Given the description of an element on the screen output the (x, y) to click on. 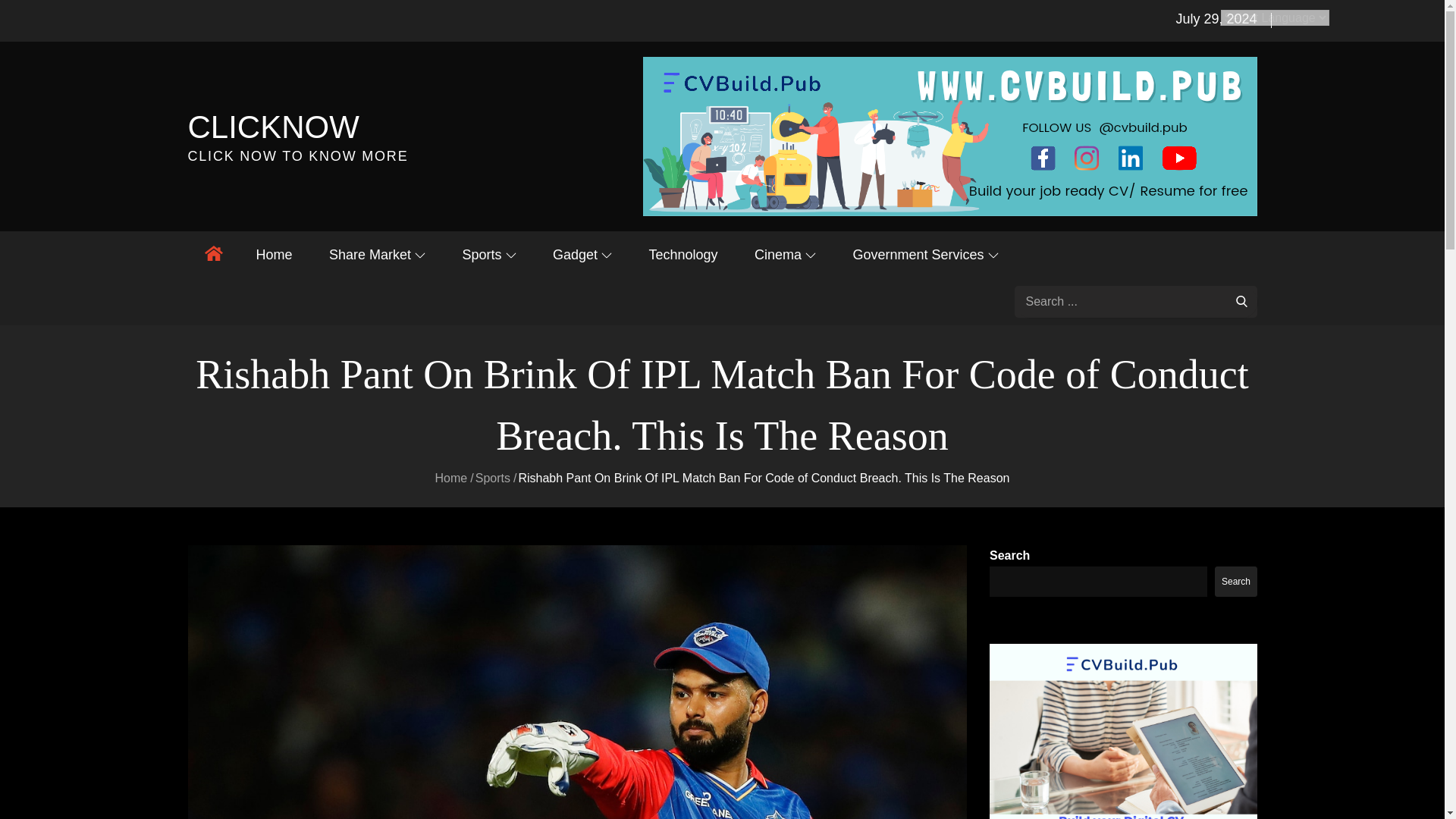
Search for: (1135, 301)
CLICKNOW (273, 126)
Technology (682, 254)
Gadget (581, 254)
Home (274, 254)
Cinema (785, 254)
Share Market (377, 254)
Sports (488, 254)
Government Services (924, 254)
